Given the description of an element on the screen output the (x, y) to click on. 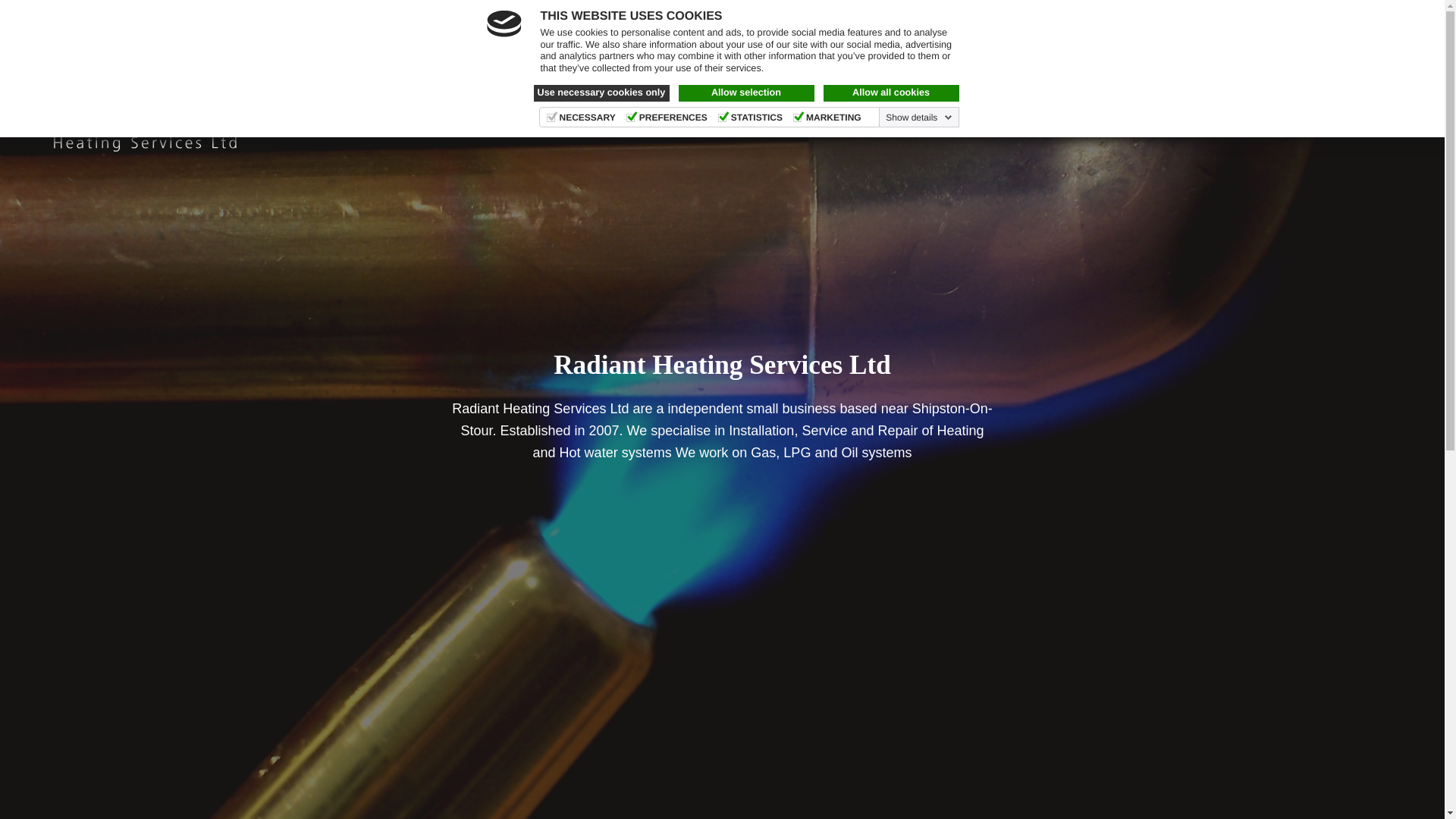
HOME (318, 94)
Allow selection (745, 93)
Use necessary cookies only (601, 93)
Show details (918, 117)
Allow all cookies (891, 93)
CONTACT (391, 94)
